Given the description of an element on the screen output the (x, y) to click on. 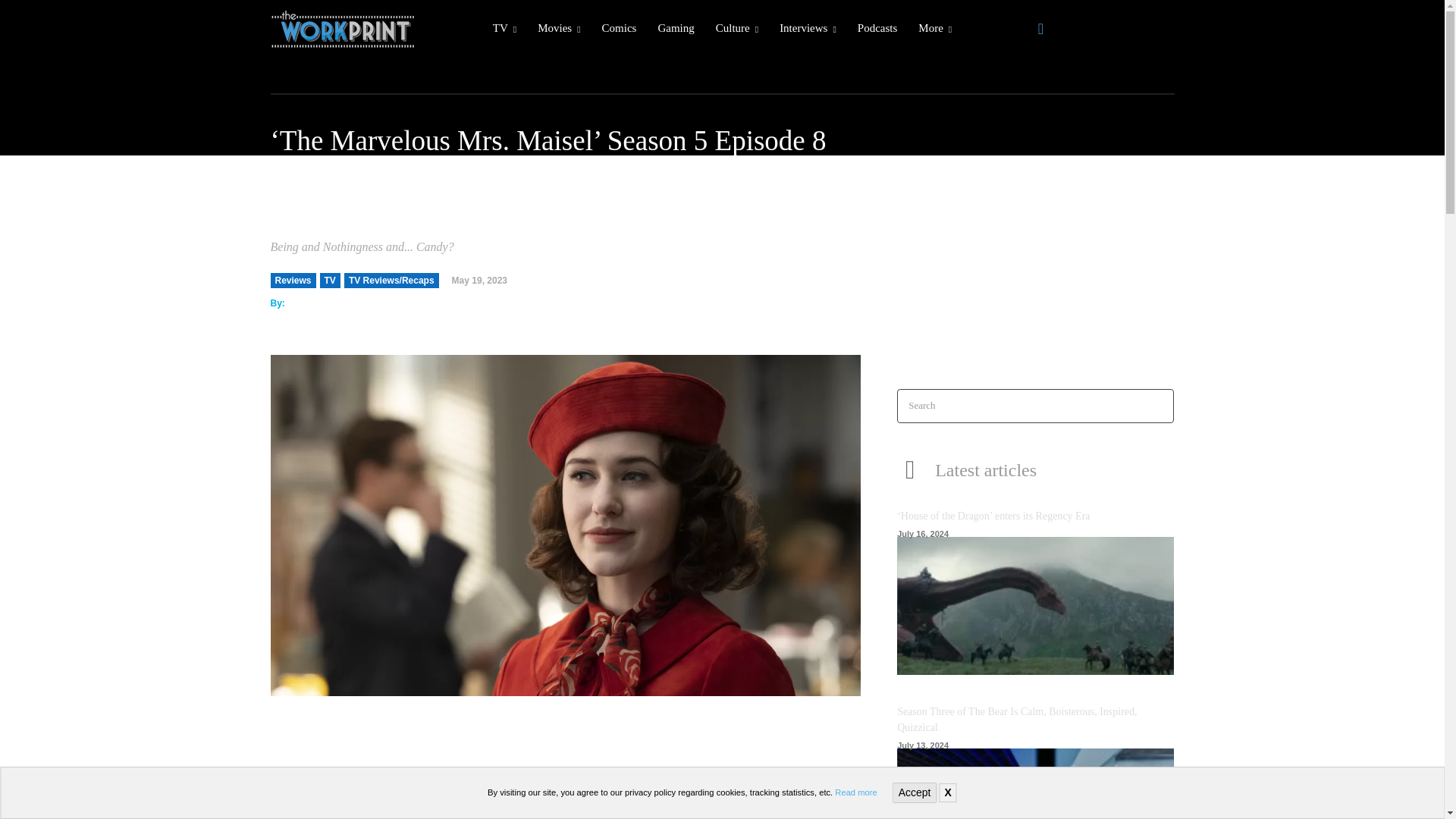
X (947, 792)
Read more (855, 791)
Accept (914, 792)
